Given the description of an element on the screen output the (x, y) to click on. 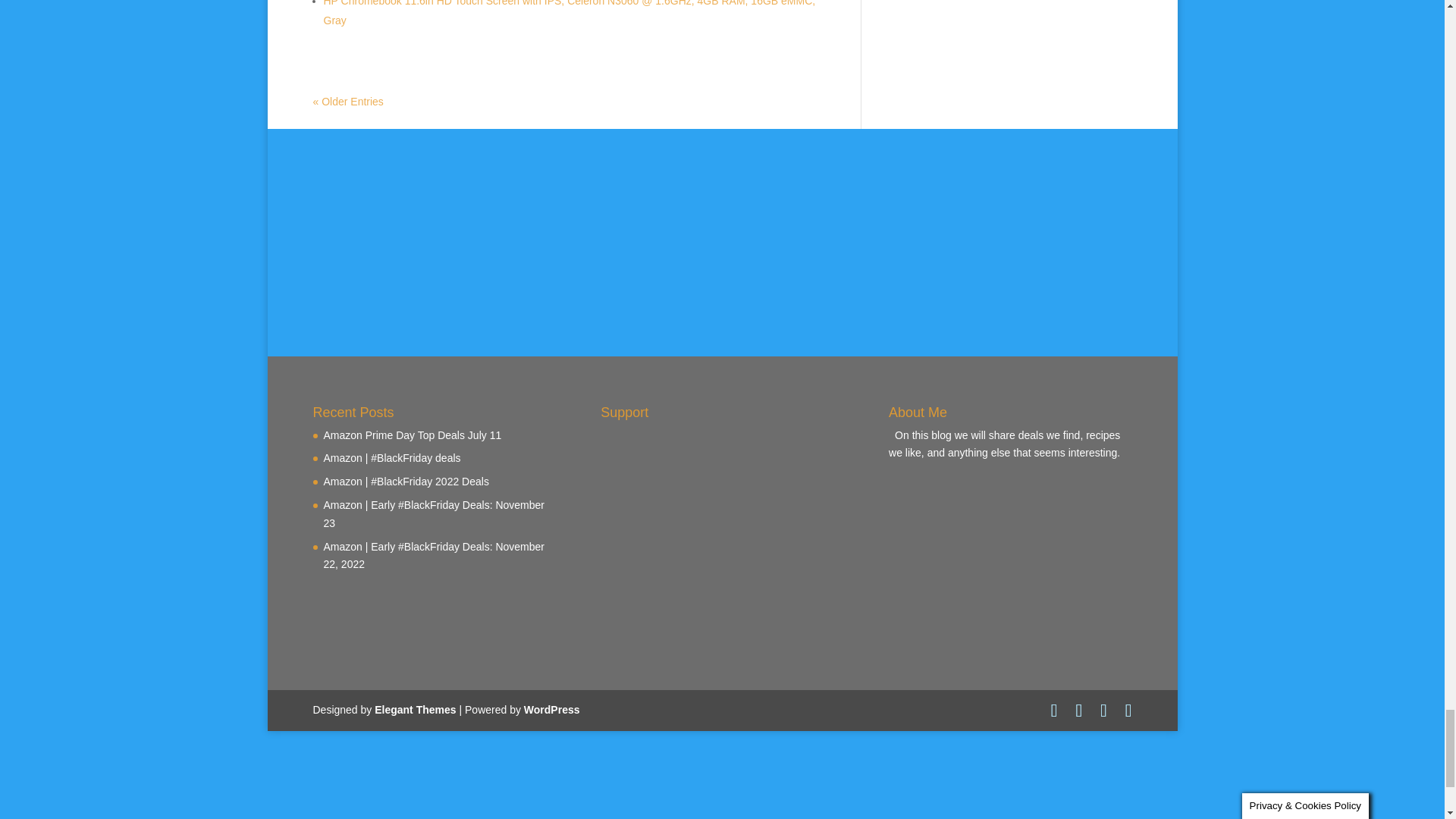
Premium WordPress Themes (414, 709)
